Given the description of an element on the screen output the (x, y) to click on. 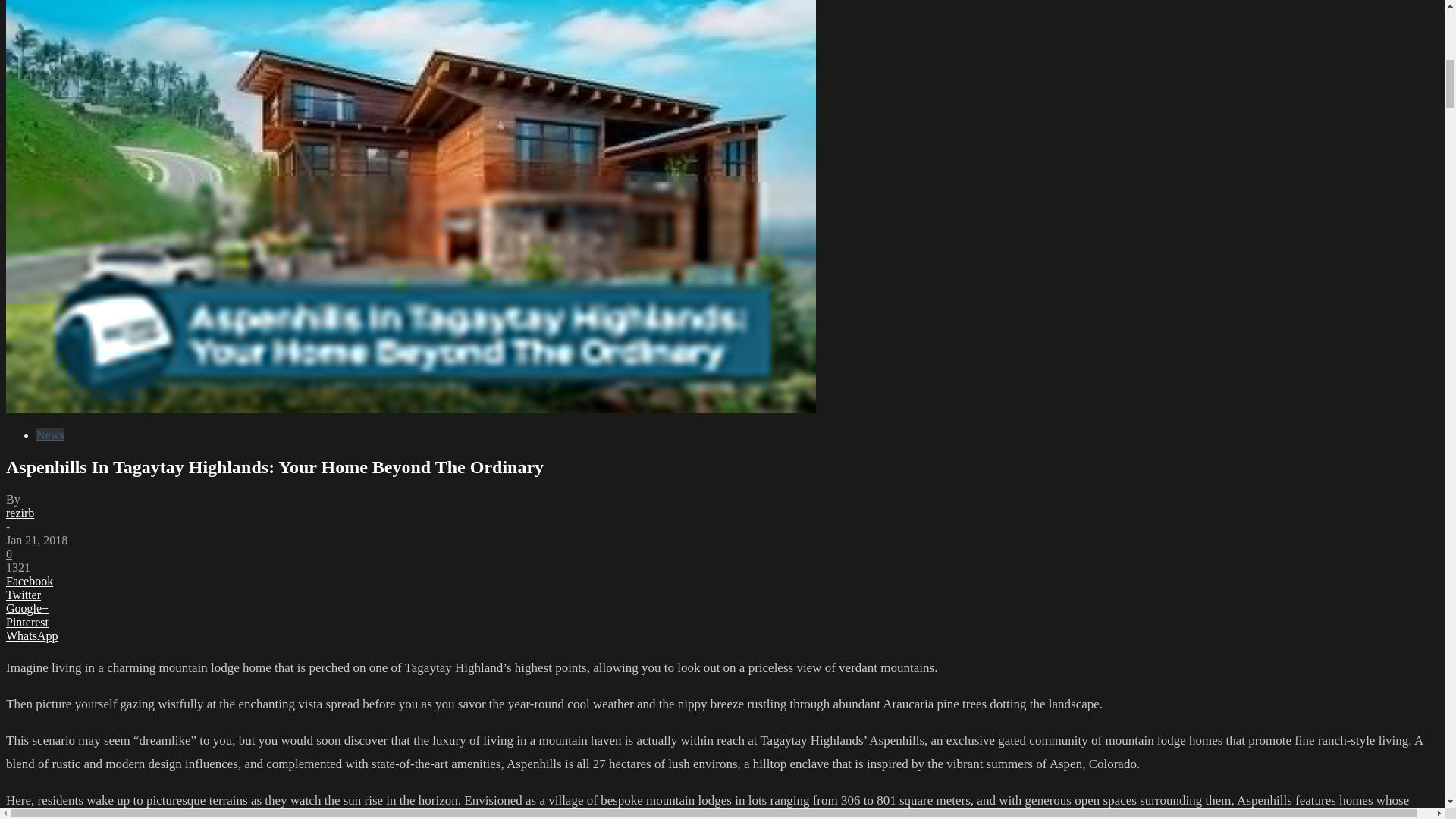
News (50, 434)
